Given the description of an element on the screen output the (x, y) to click on. 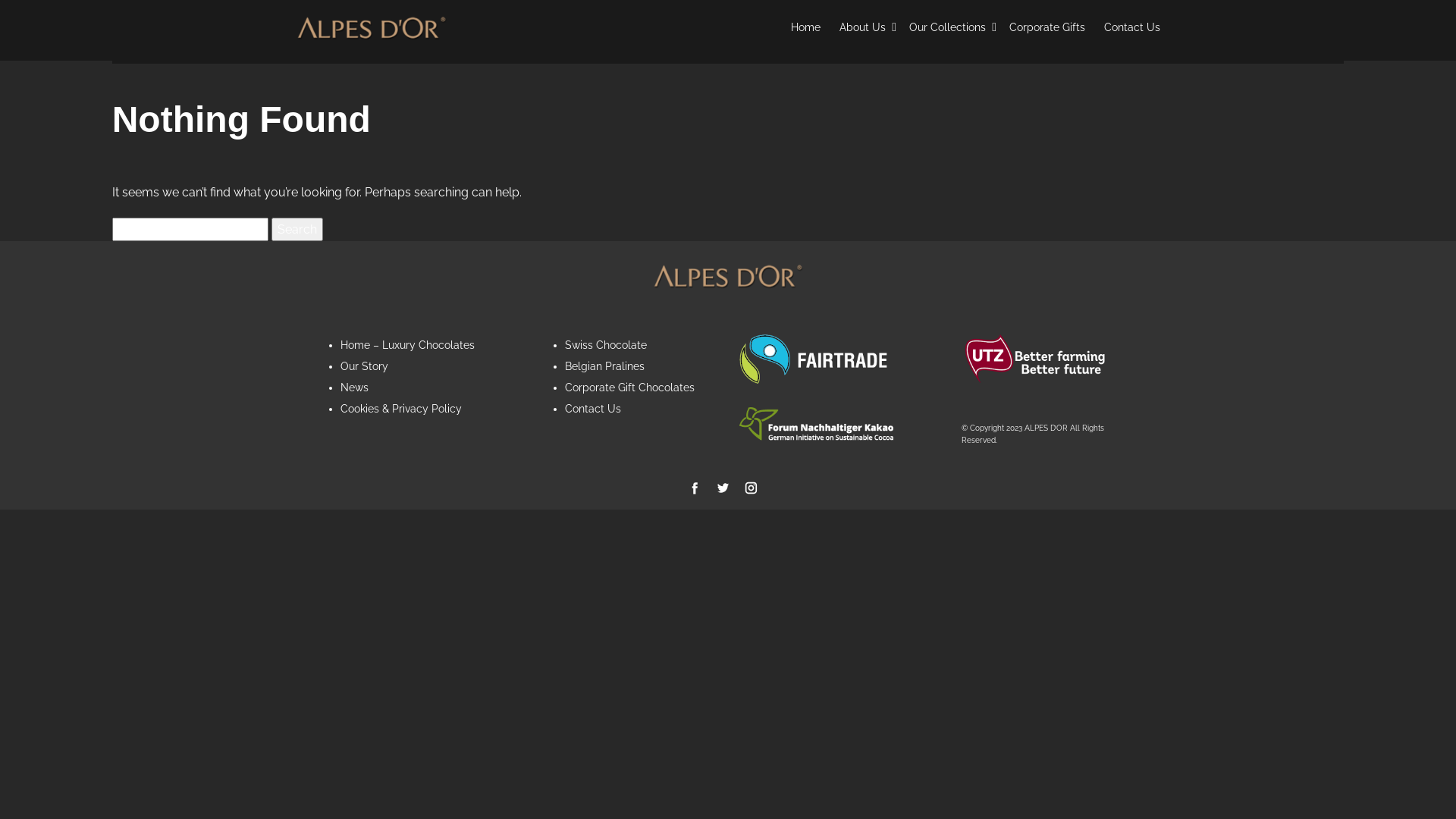
News Element type: text (354, 387)
Contact Us Element type: text (592, 408)
Contact Us Element type: text (1132, 27)
About Us Element type: text (864, 27)
Belgian Pralines Element type: text (603, 366)
Swiss Chocolate Element type: text (605, 344)
Our Collections Element type: text (949, 27)
Corporate Gift Chocolates Element type: text (628, 387)
Home Element type: text (805, 27)
Corporate Gifts Element type: text (1047, 27)
Search Element type: text (297, 229)
Our Story Element type: text (364, 366)
Cookies & Privacy Policy Element type: text (400, 408)
